Given the description of an element on the screen output the (x, y) to click on. 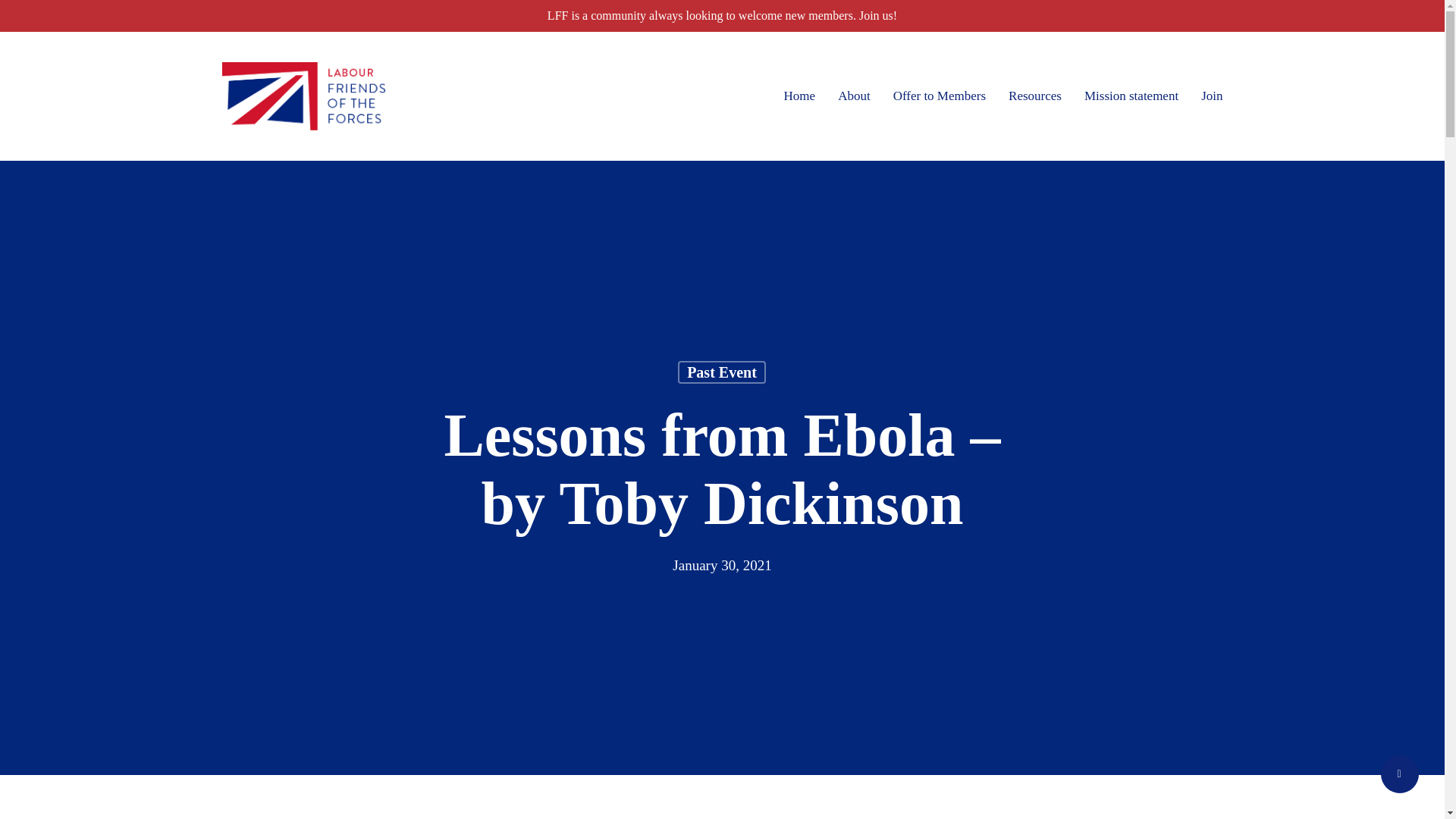
About (854, 95)
Mission statement (1130, 95)
Offer to Members (939, 95)
Past Event (721, 388)
Resources (1035, 95)
Home (799, 95)
Join (1212, 95)
